Given the description of an element on the screen output the (x, y) to click on. 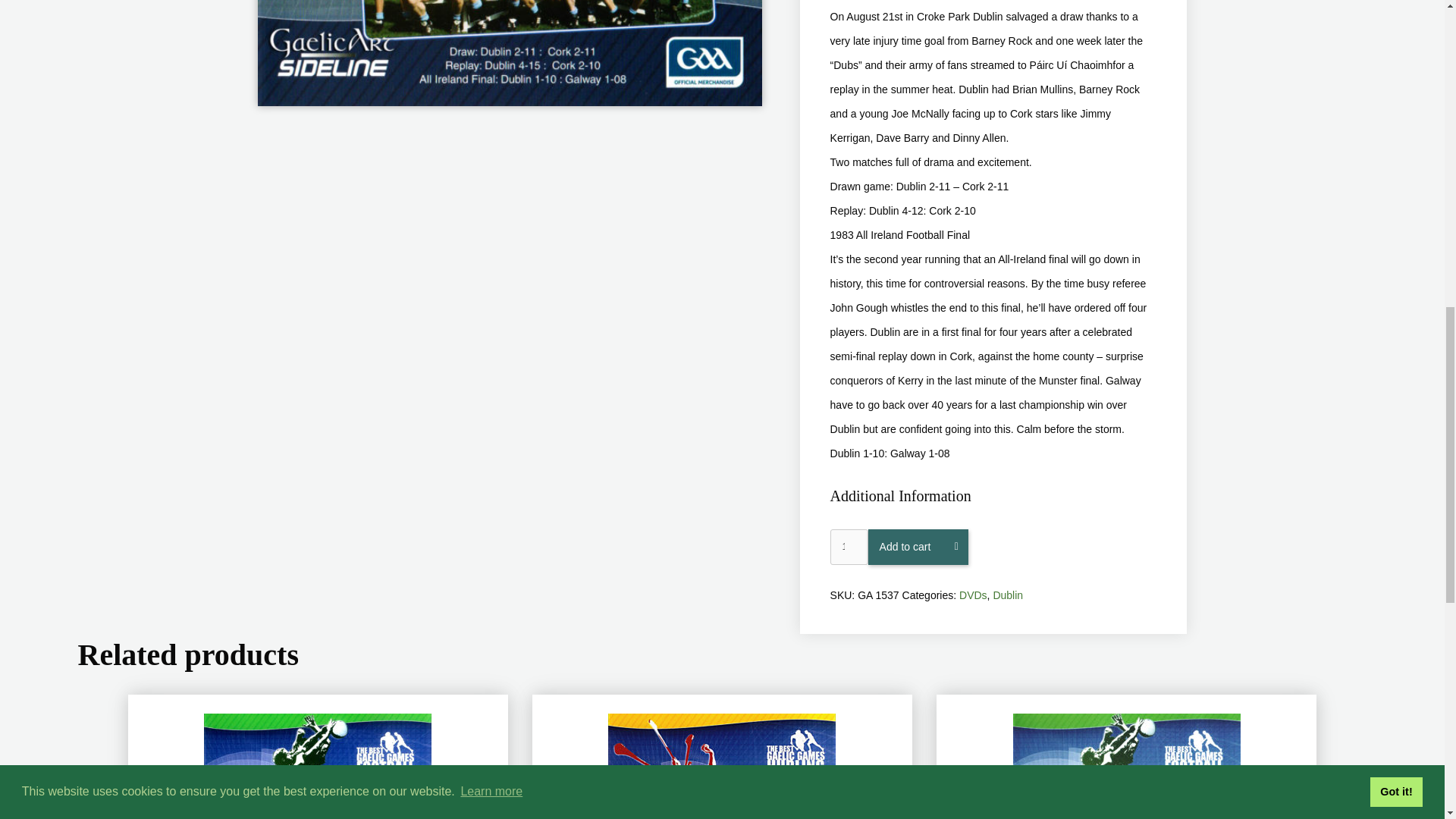
Qty (848, 547)
1 (848, 547)
F 83  GA 1537 (509, 53)
